Given the description of an element on the screen output the (x, y) to click on. 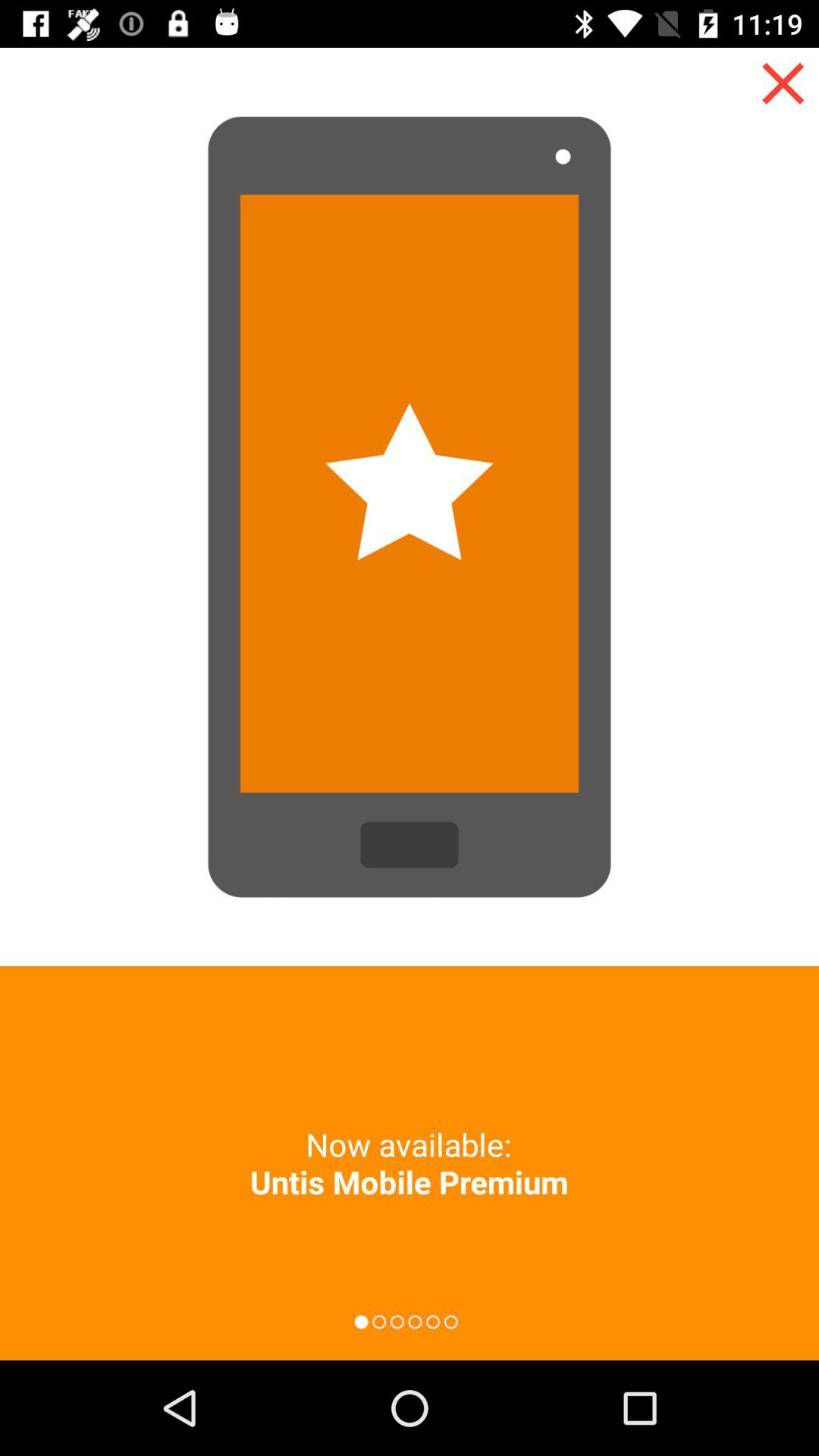
go to close (783, 83)
